Given the description of an element on the screen output the (x, y) to click on. 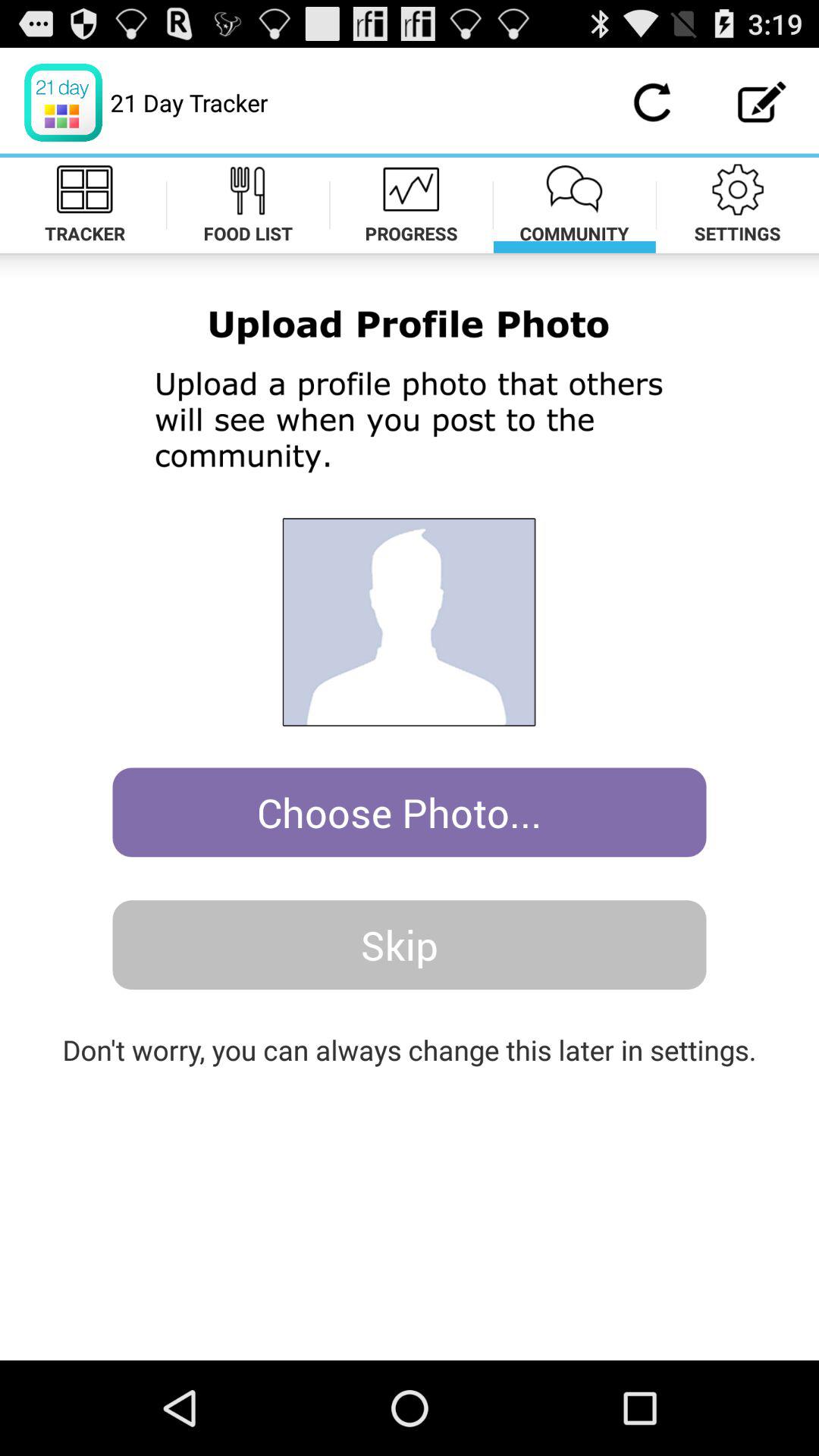
click on the reload icon (651, 102)
